Given the description of an element on the screen output the (x, y) to click on. 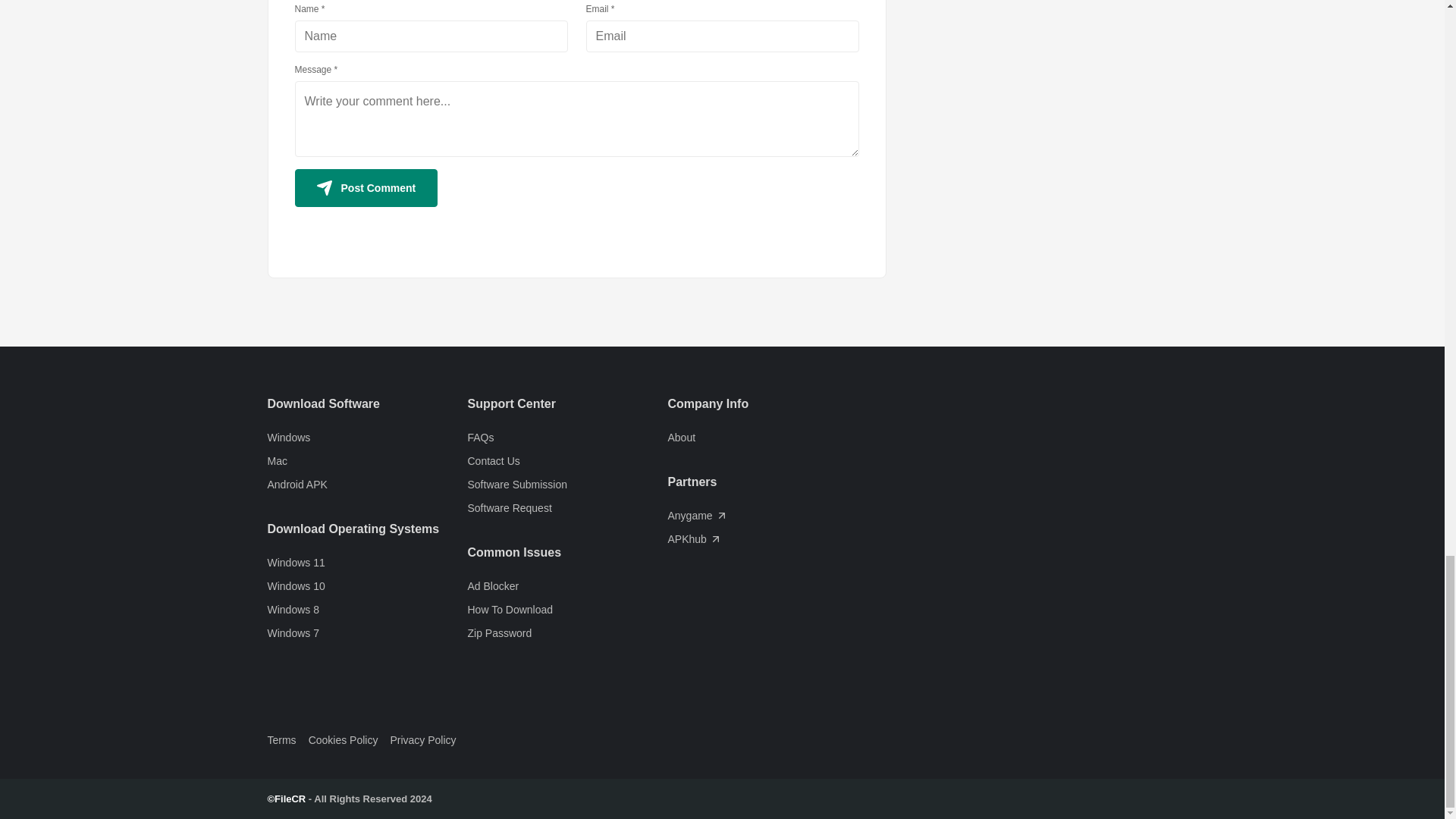
Post Comment (366, 187)
